Given the description of an element on the screen output the (x, y) to click on. 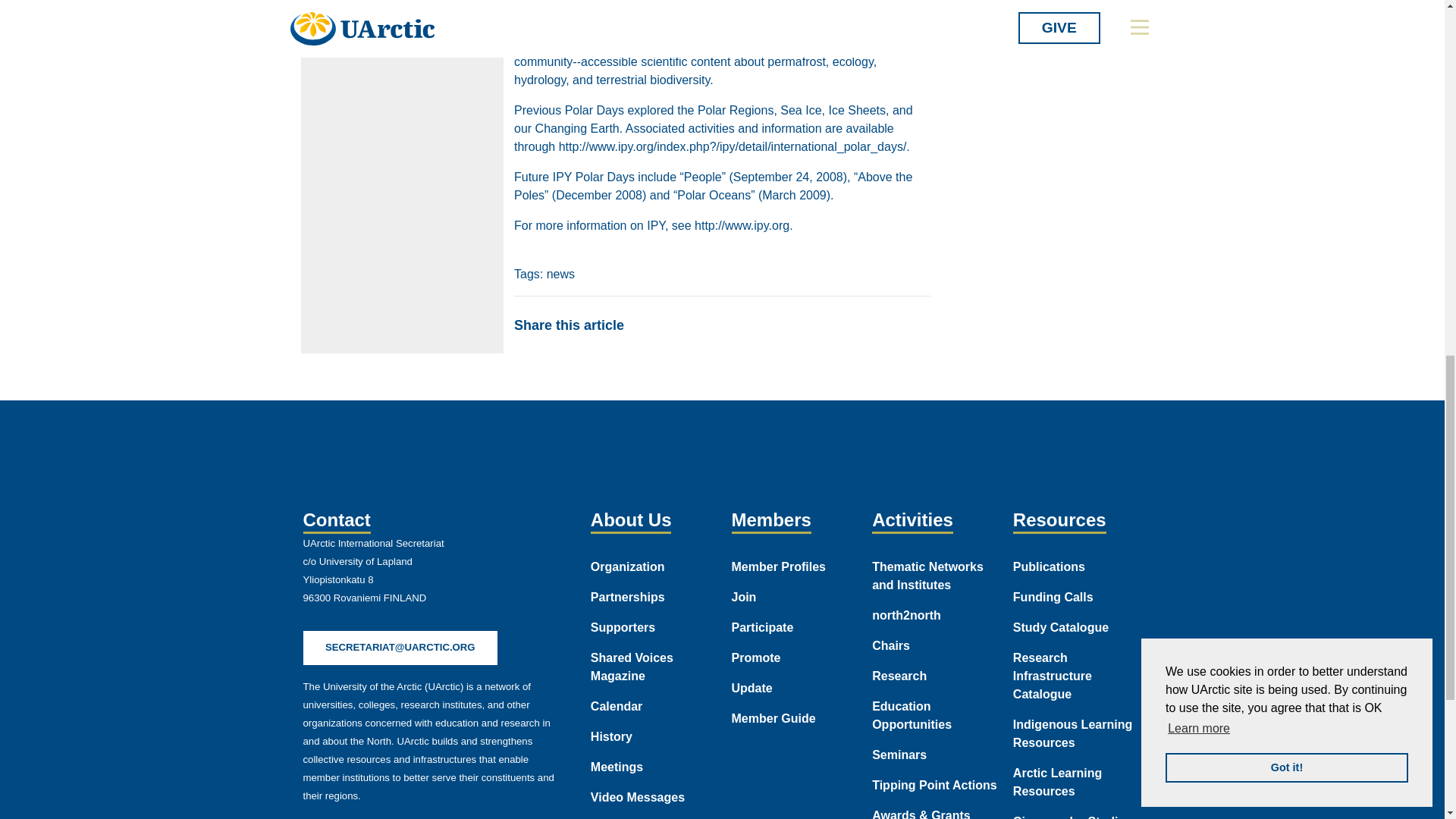
Share on Facebook (650, 324)
Share on Twitter (686, 324)
